Given the description of an element on the screen output the (x, y) to click on. 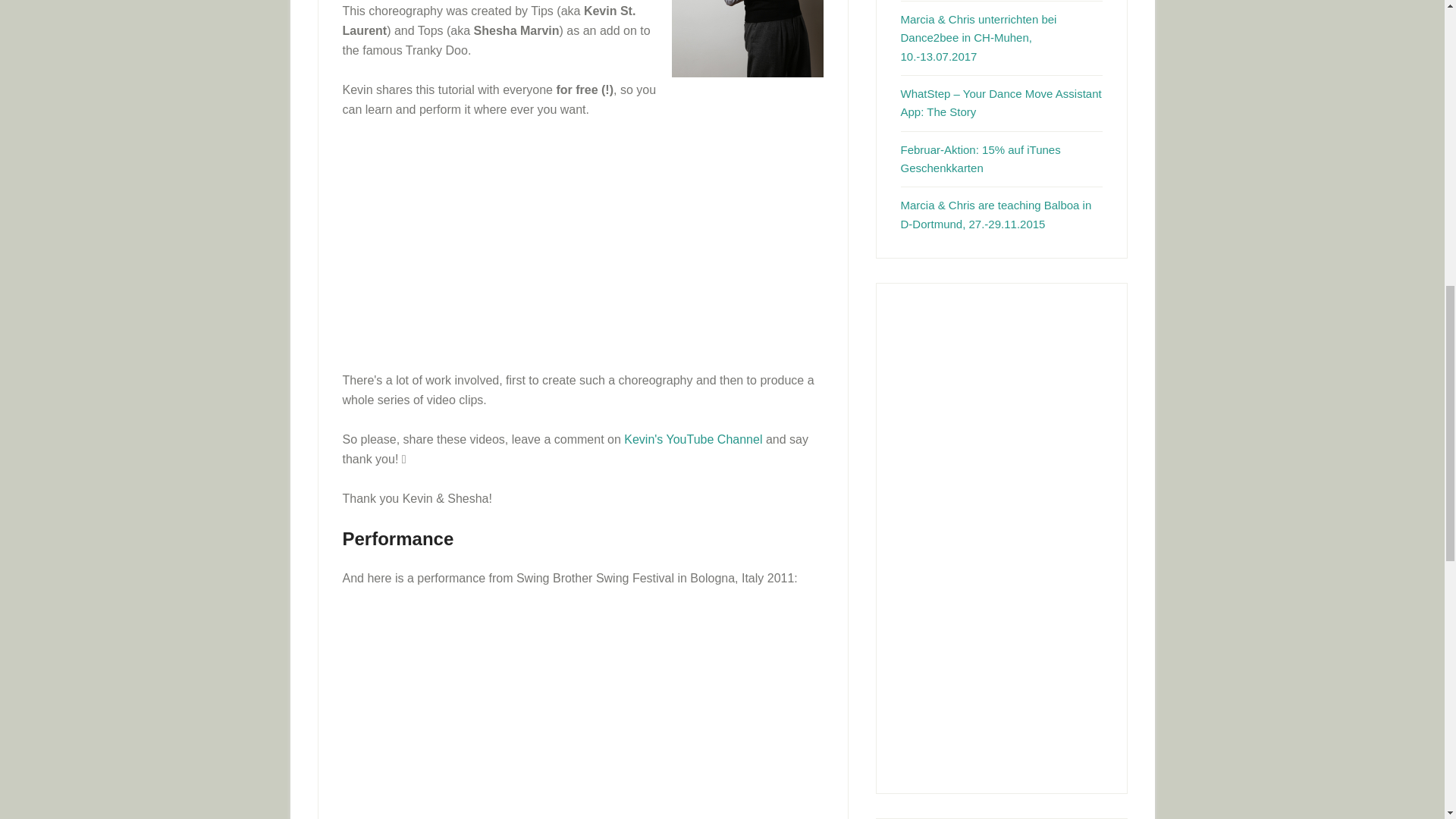
Hat Trick Tranky Doo Tutorial (562, 245)
Tips and Tops Hat Trick Tranky Doo Swing Brother Swing 2011 (562, 713)
Kevin's YouTube Channel (692, 439)
